Given the description of an element on the screen output the (x, y) to click on. 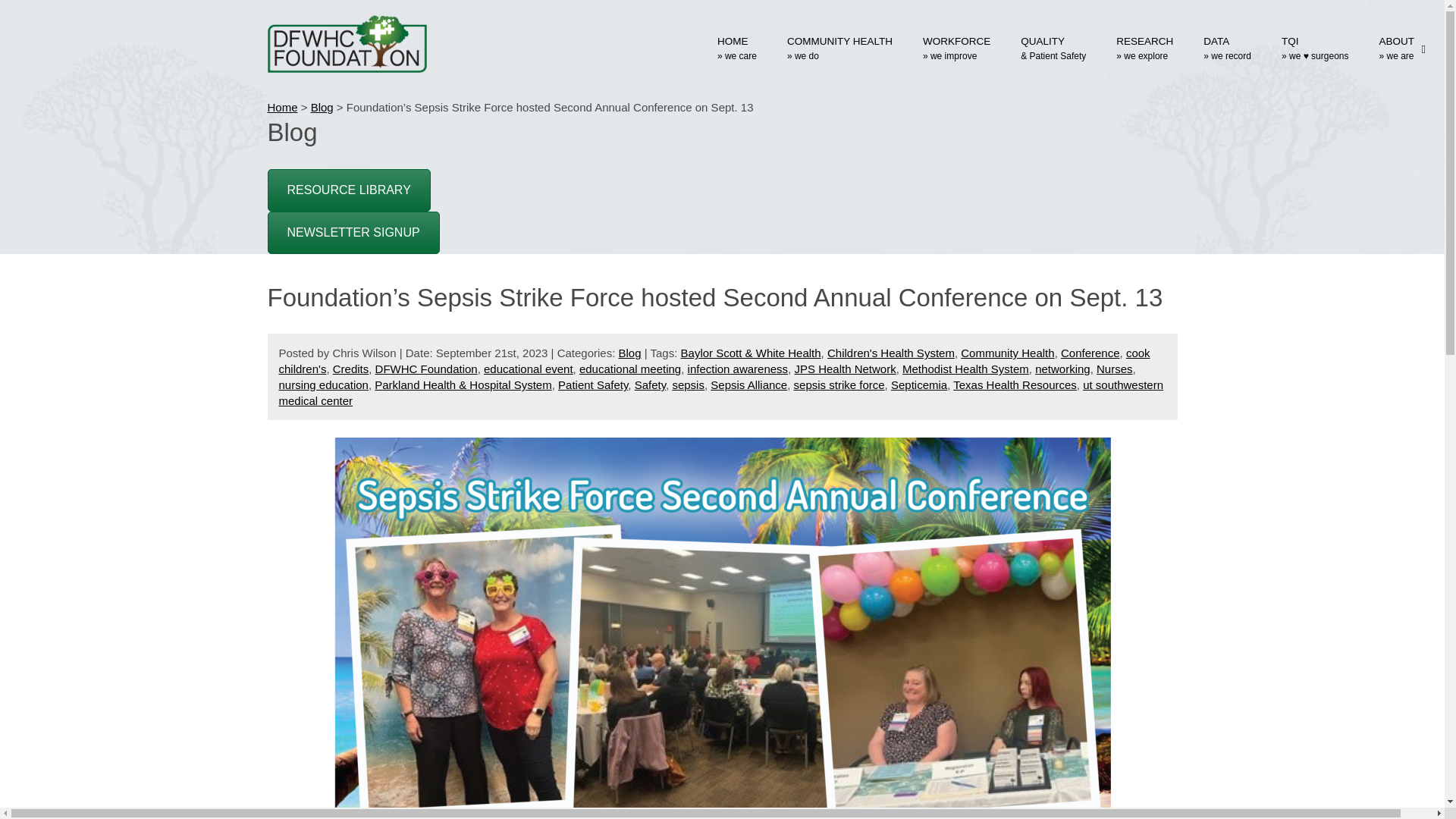
RESOURCE LIBRARY (347, 189)
Blog (322, 106)
Nurses (1114, 368)
educational event (528, 368)
NEWSLETTER SIGNUP (352, 232)
DFWHC Foundation (426, 368)
NEWSLETTER SIGNUP (352, 230)
Community Health (1007, 352)
nursing education (323, 384)
networking (1062, 368)
